Given the description of an element on the screen output the (x, y) to click on. 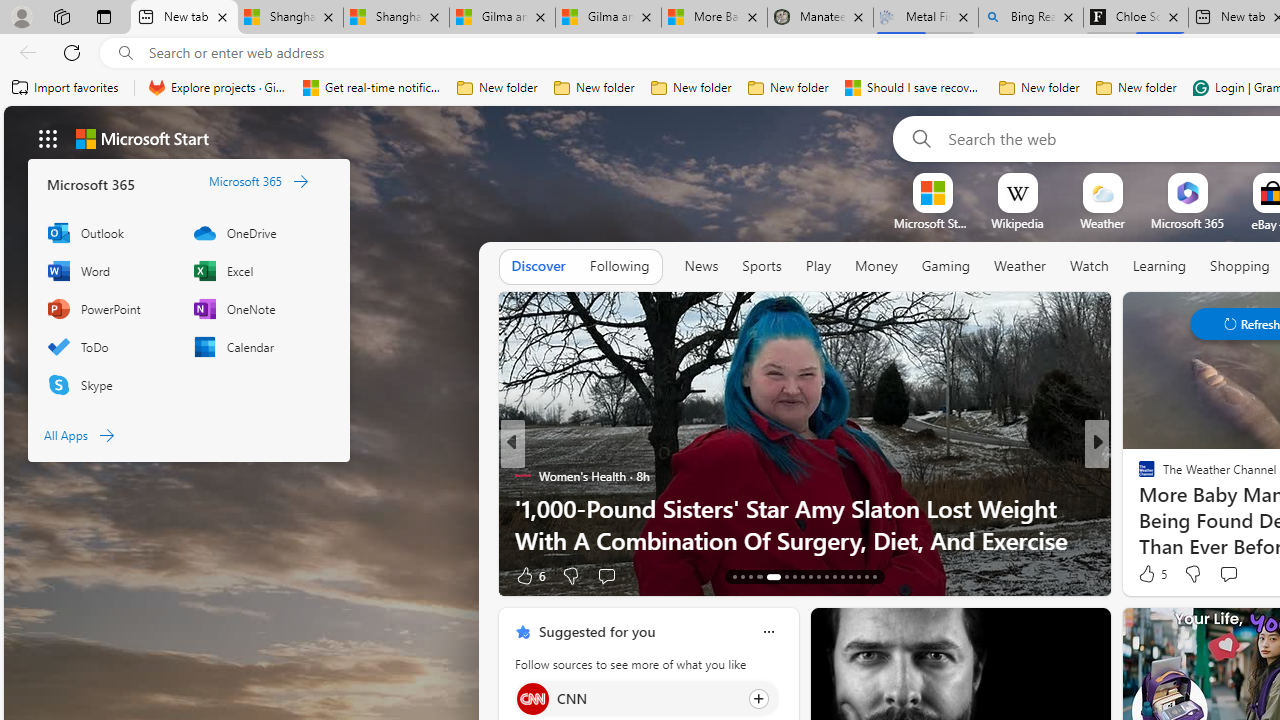
661 Like (1151, 574)
AutomationID: tab-17 (772, 576)
View comments 6 Comment (1241, 574)
View comments 19 Comment (1234, 575)
View comments 25 Comment (1237, 574)
Shopping (1240, 265)
AutomationID: tab-14 (742, 576)
Yumophile (1138, 507)
View comments 5 Comment (1241, 574)
Class: arrow-icon (105, 434)
Suggested for you (596, 631)
